Given the description of an element on the screen output the (x, y) to click on. 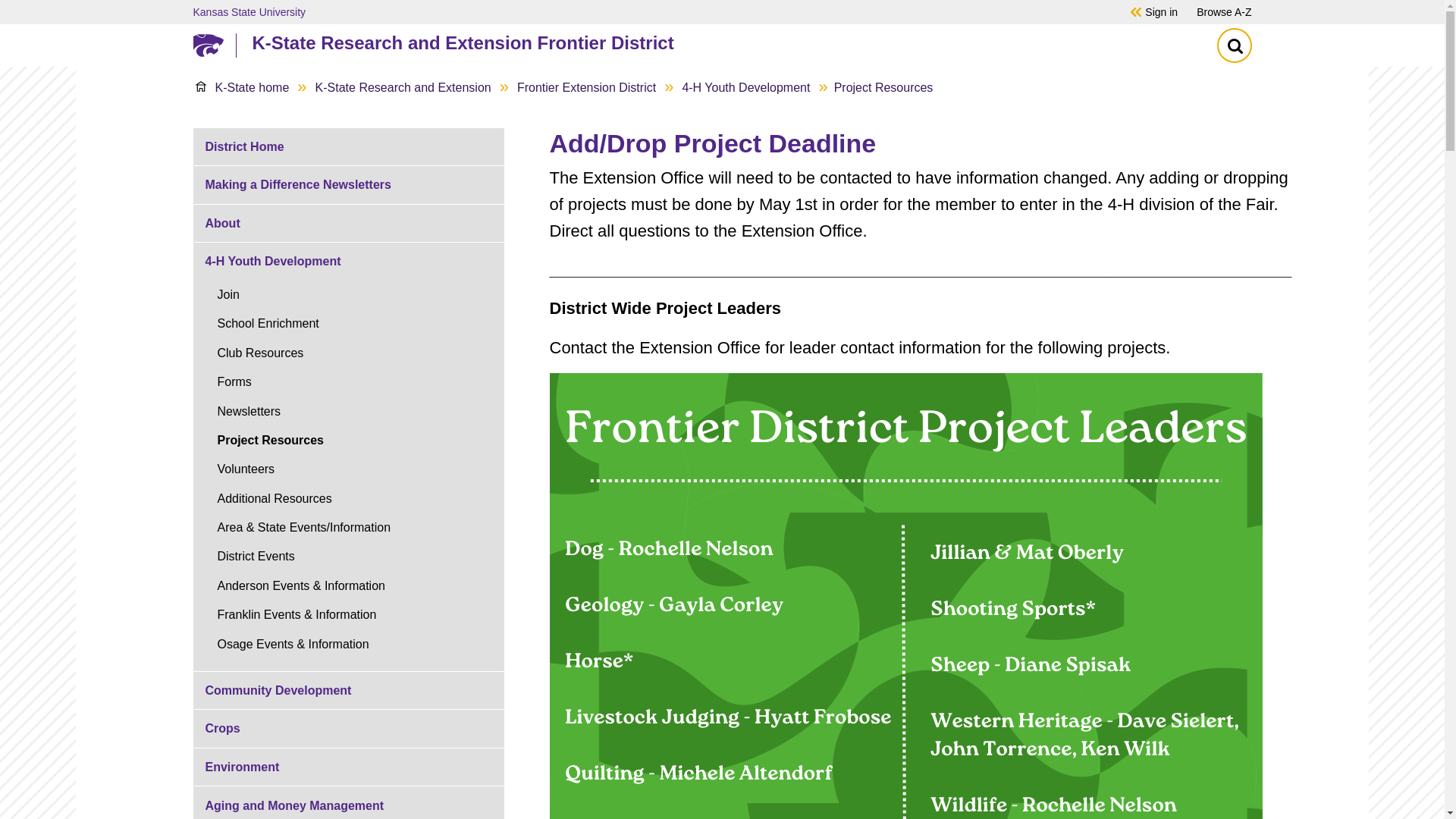
K-State Research and Extension Frontier District (718, 43)
Sign in (1160, 11)
Kansas State University (639, 11)
Browse A-Z (1223, 11)
